Given the description of an element on the screen output the (x, y) to click on. 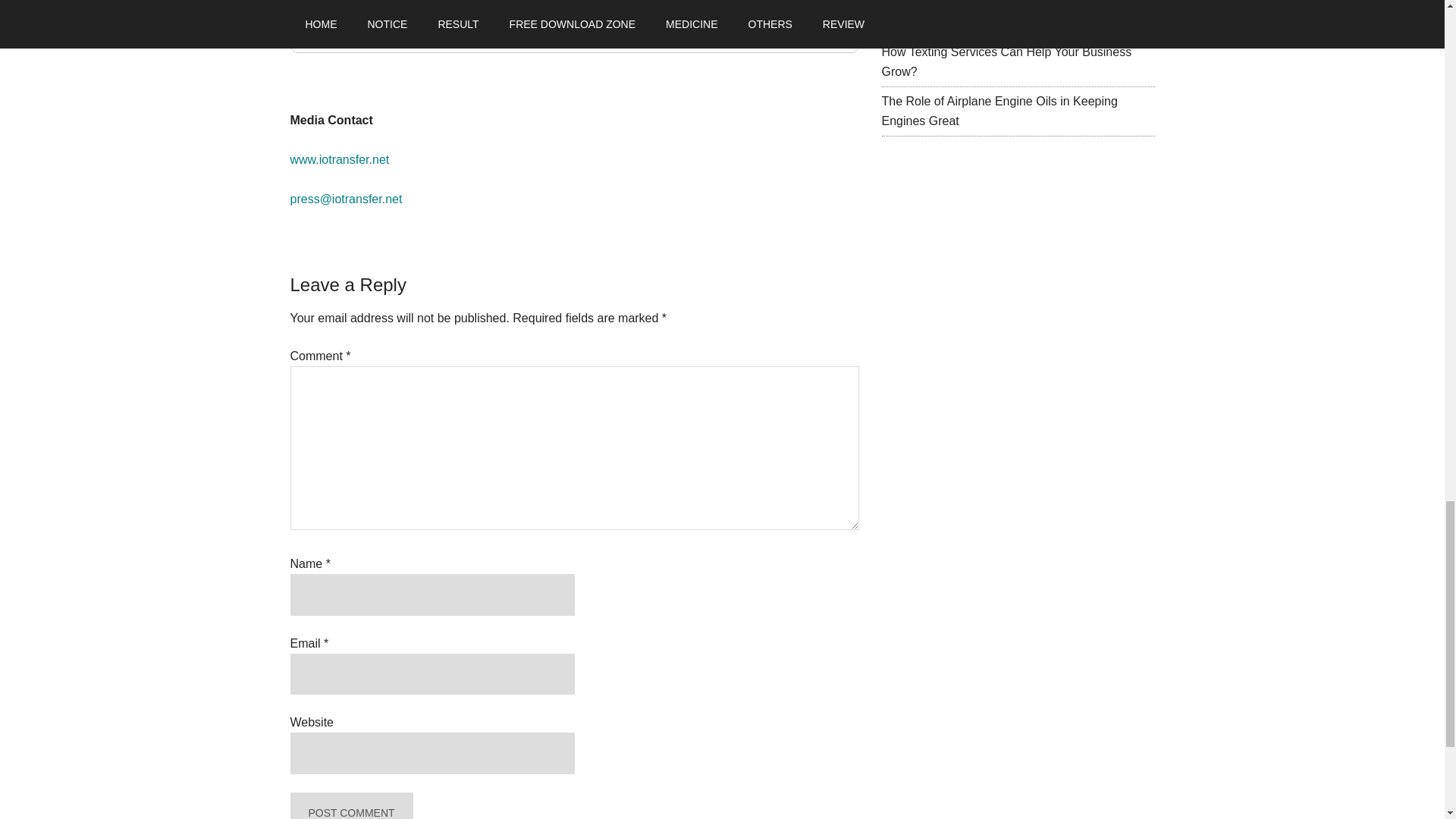
Post Comment (350, 805)
